Given the description of an element on the screen output the (x, y) to click on. 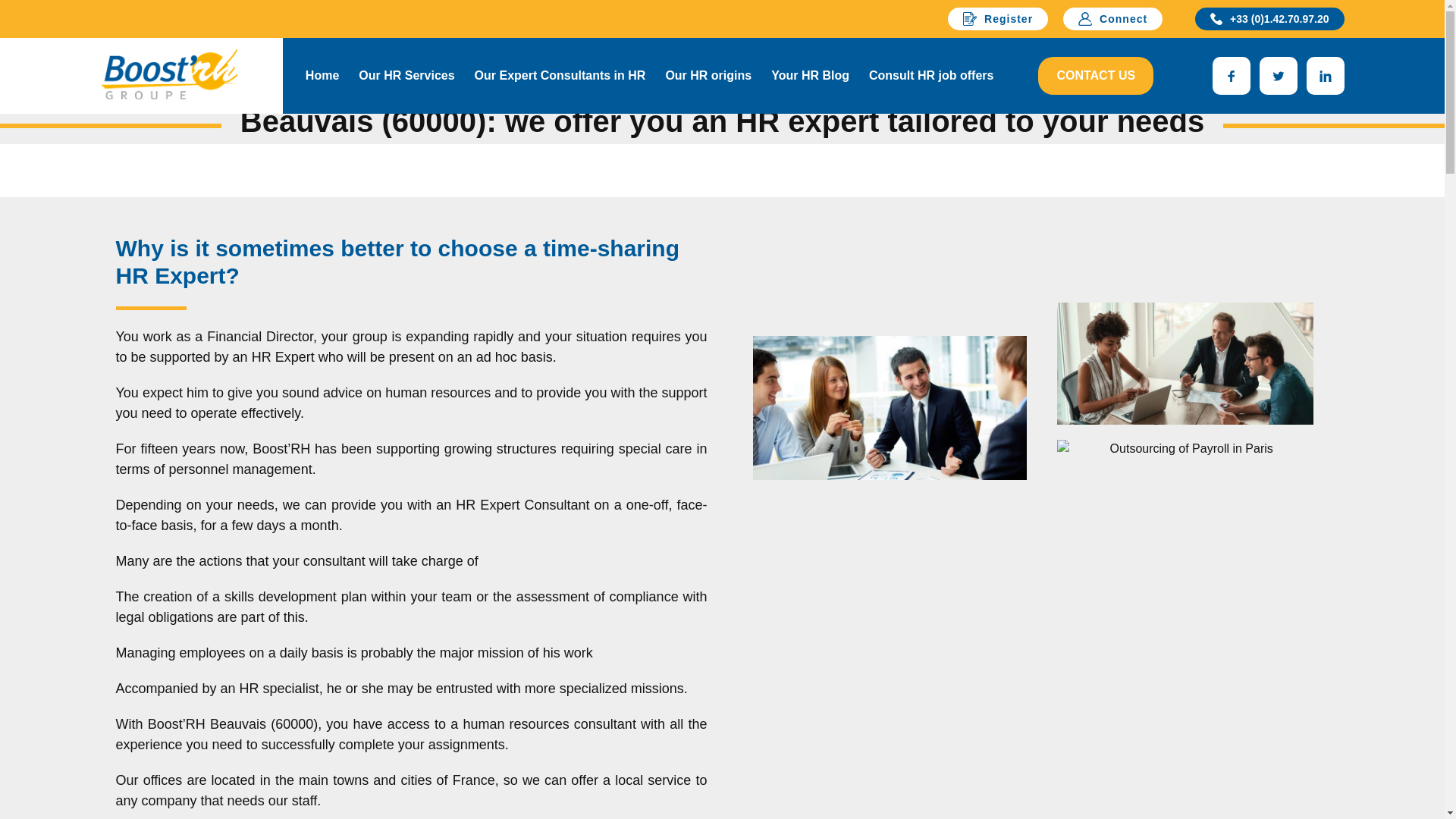
CONTACT US (1095, 75)
Register (997, 18)
Our HR Services (406, 75)
Our HR origins (708, 75)
Register (997, 18)
Our Expert Consultants in HR (560, 75)
Home (322, 75)
Connect (1111, 18)
Consult HR job offers (931, 75)
Your HR Blog (810, 75)
